Given the description of an element on the screen output the (x, y) to click on. 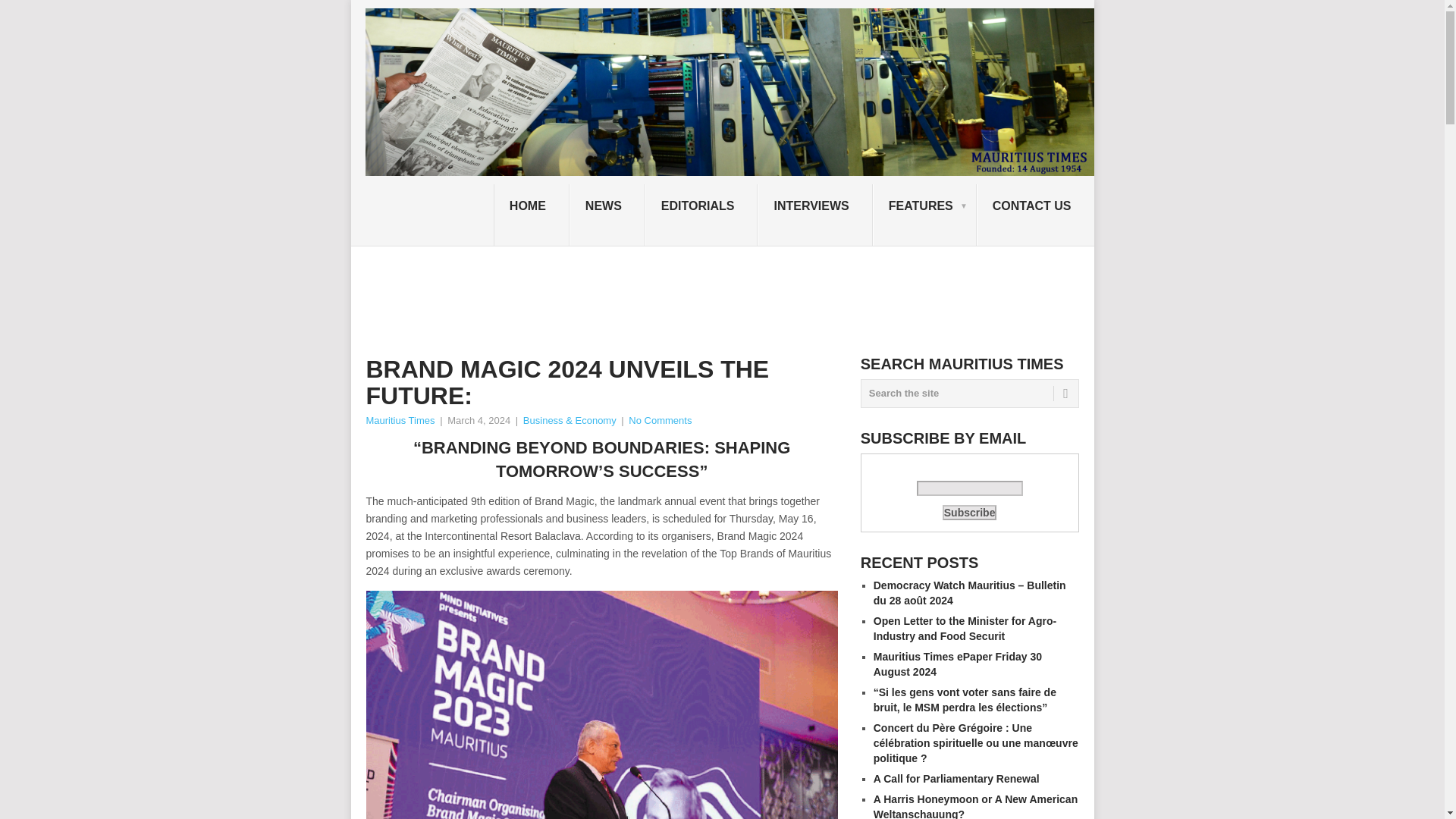
FEATURES (924, 215)
Advertisement (641, 298)
Mauritius Times (399, 419)
Posts by Mauritius Times (399, 419)
No Comments (659, 419)
CONTACT US (1035, 215)
Search the site (969, 393)
NEWS (607, 215)
HOME (531, 215)
Subscribe (969, 512)
